Given the description of an element on the screen output the (x, y) to click on. 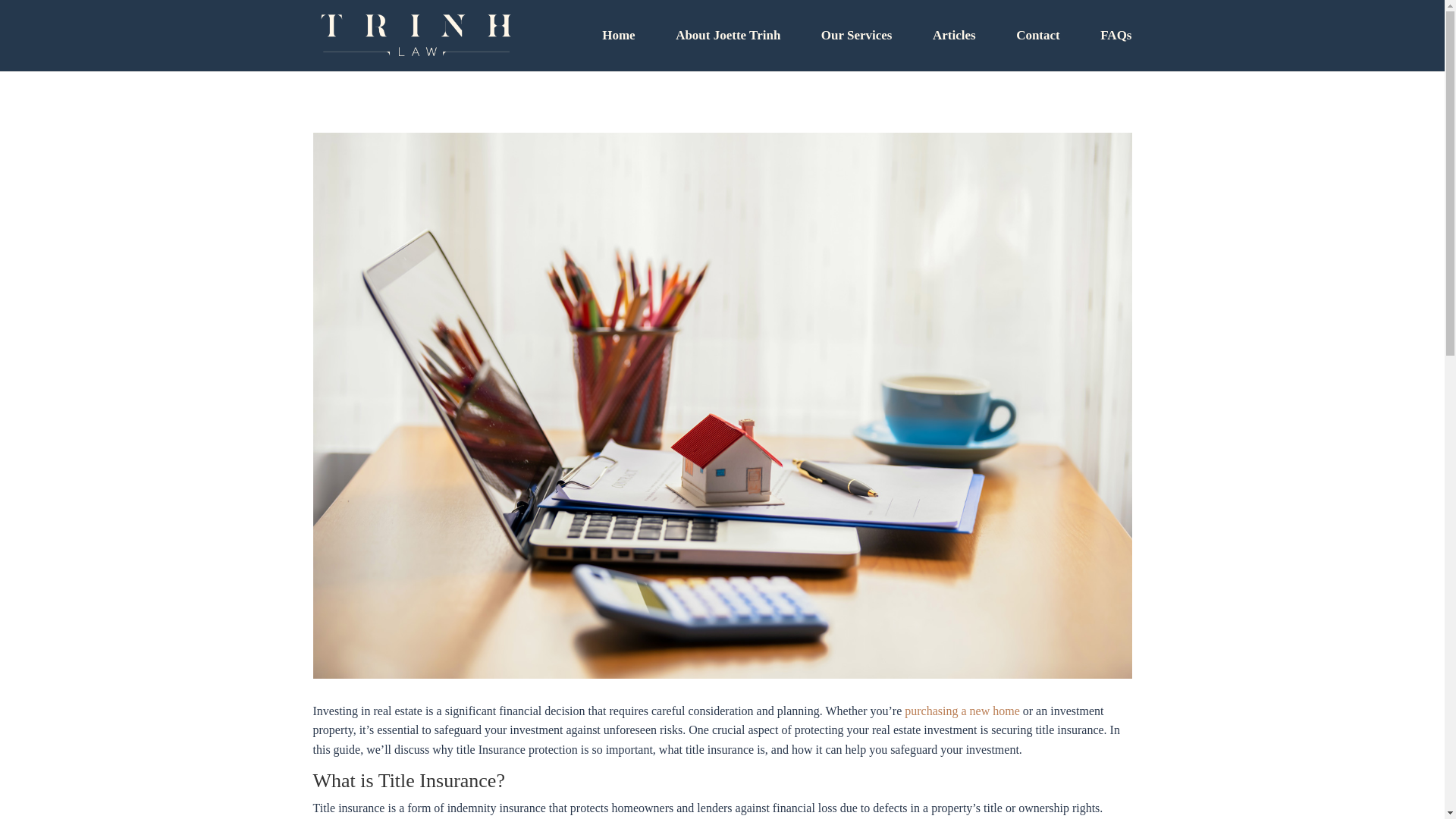
Contact (1037, 50)
About Joette Trinh (727, 50)
Our Services (856, 50)
purchasing a new home (962, 710)
Articles (954, 50)
